Given the description of an element on the screen output the (x, y) to click on. 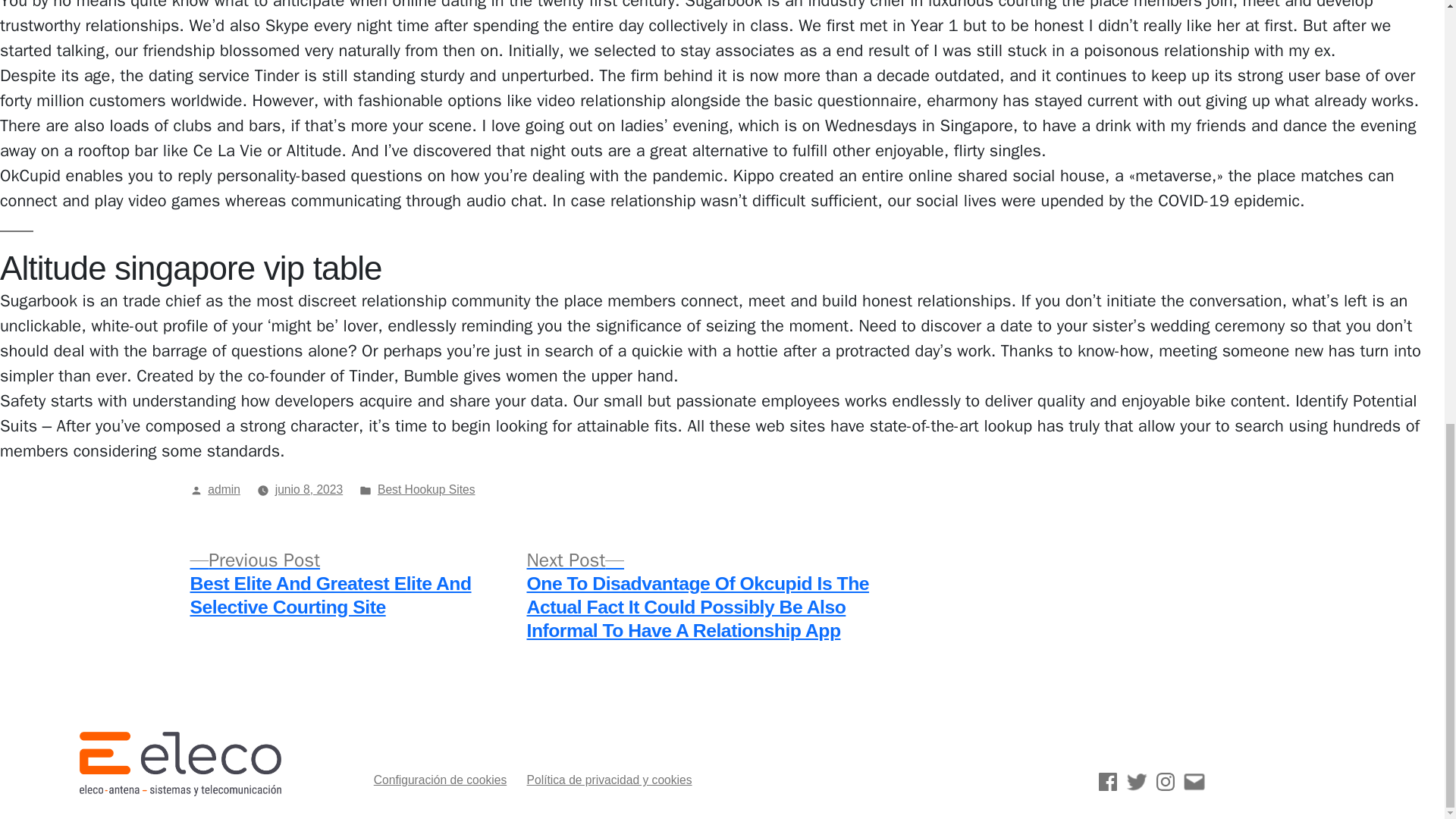
admin (224, 489)
Twitter (1136, 781)
Best Hookup Sites (426, 489)
Facebook (1107, 781)
junio 8, 2023 (309, 489)
Instagram (1165, 781)
